Given the description of an element on the screen output the (x, y) to click on. 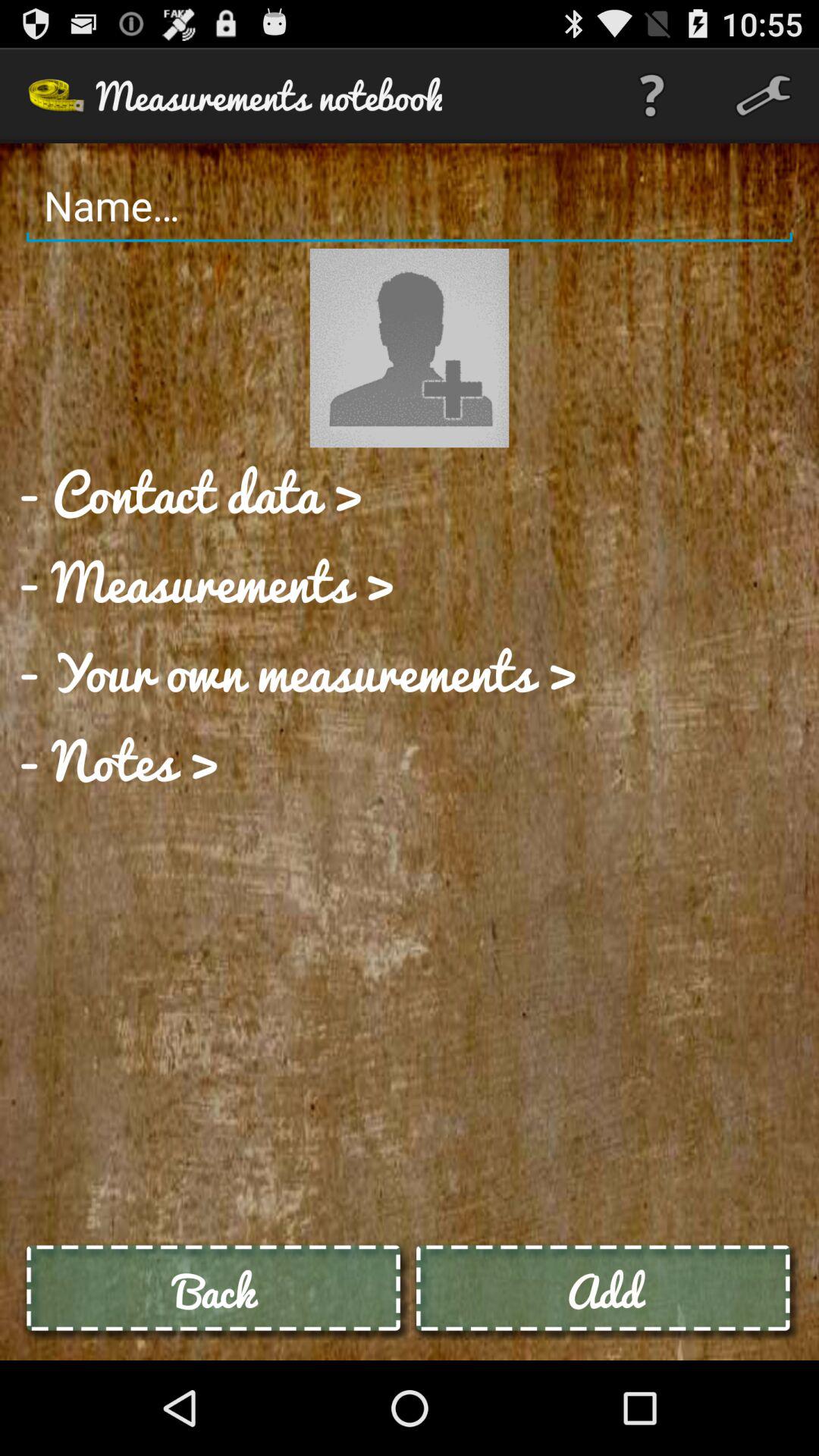
choose app to the right of measurements notebook item (651, 95)
